Given the description of an element on the screen output the (x, y) to click on. 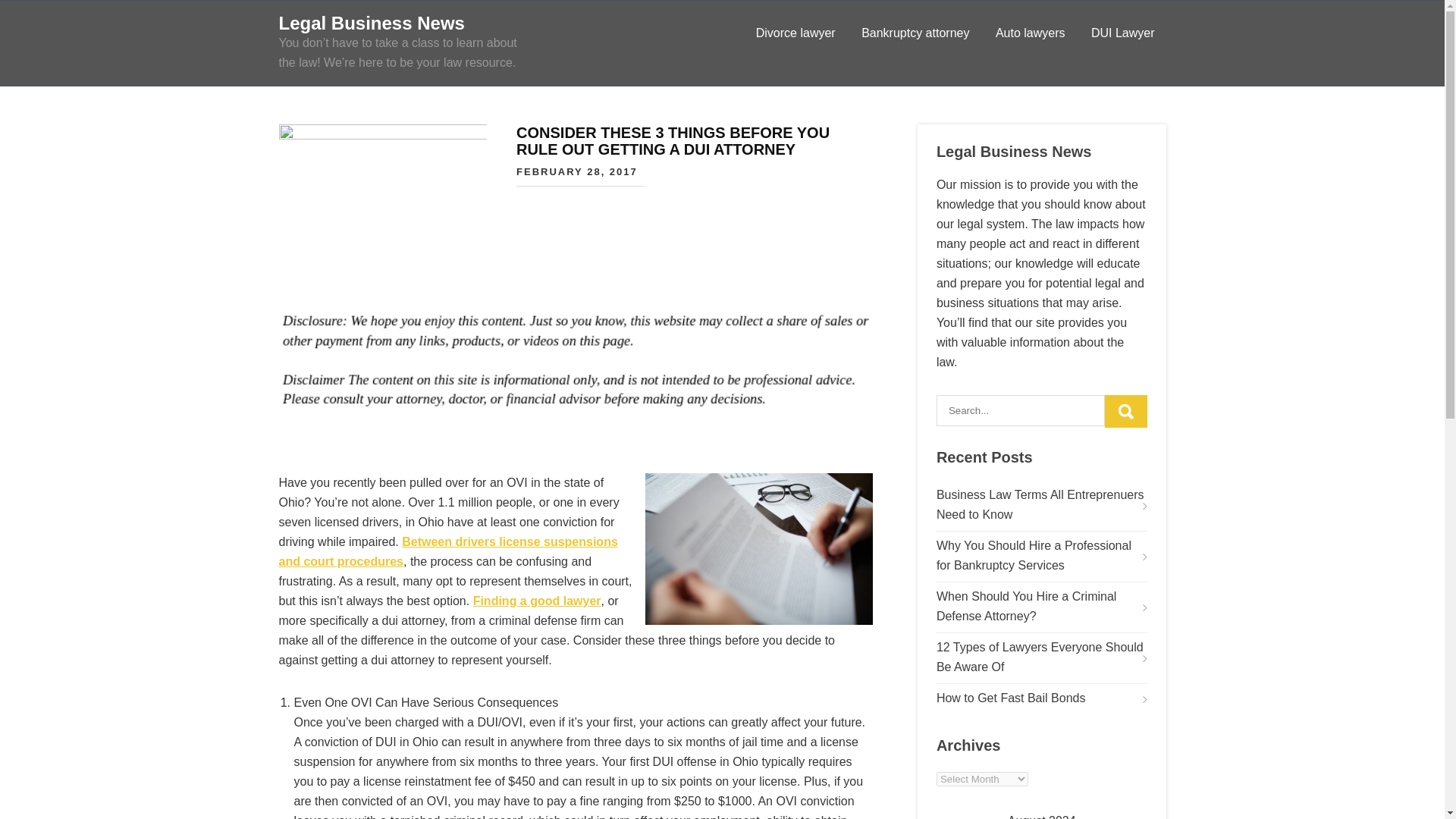
When Should You Hire a Criminal Defense Attorney? (1041, 606)
DUI Lawyer (1123, 33)
Search (1126, 410)
12 Types of Lawyers Everyone Should Be Aware Of (1041, 657)
Related to Ohio criminal attorney (537, 600)
Business Law Terms All Entreprenuers Need to Know (1041, 504)
Bankruptcy attorney (914, 33)
Search (1126, 410)
How to Get Fast Bail Bonds (1011, 698)
Why You Should Hire a Professional for Bankruptcy Services (1041, 555)
